Given the description of an element on the screen output the (x, y) to click on. 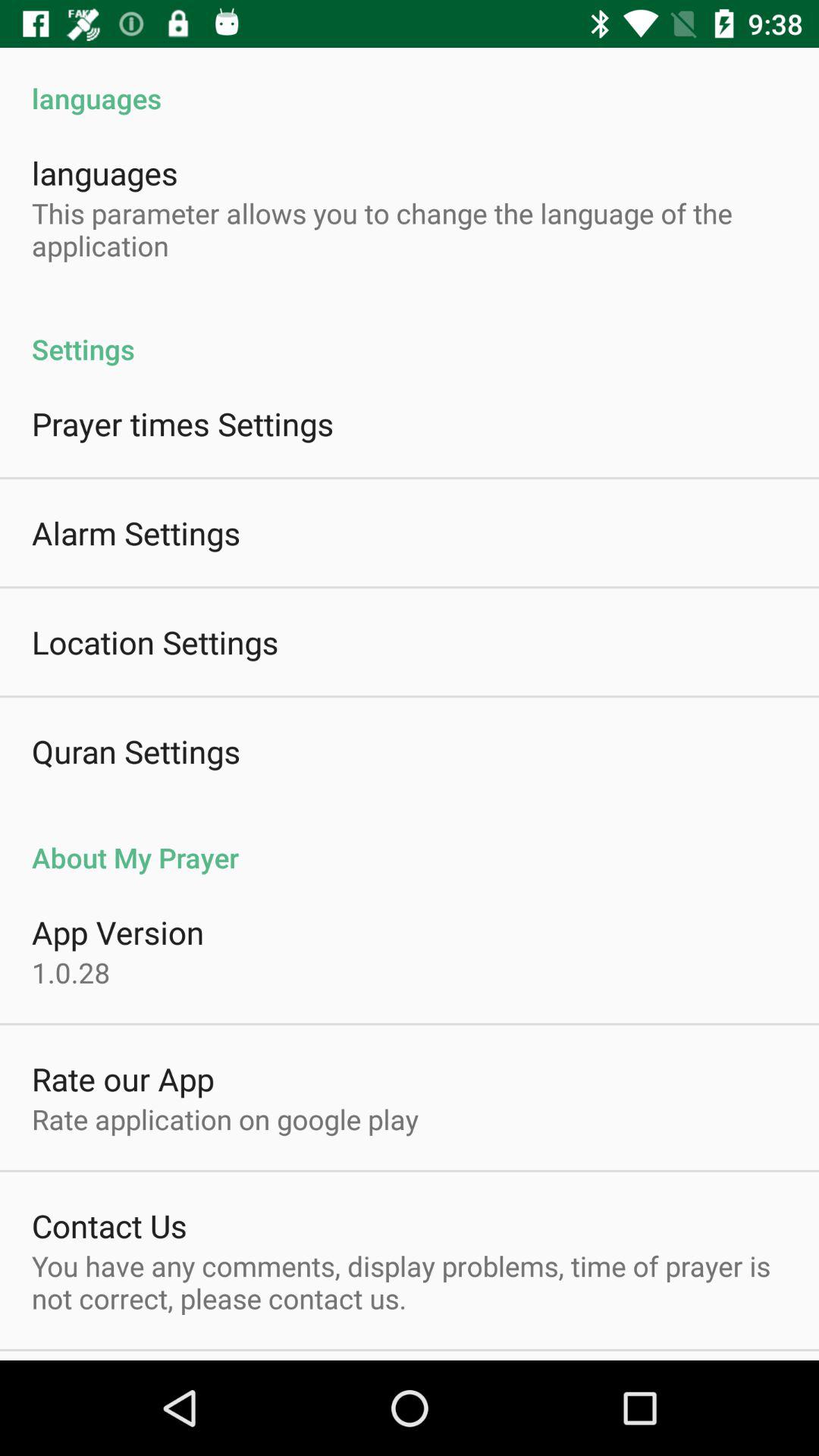
choose app below the rate our app app (224, 1119)
